Given the description of an element on the screen output the (x, y) to click on. 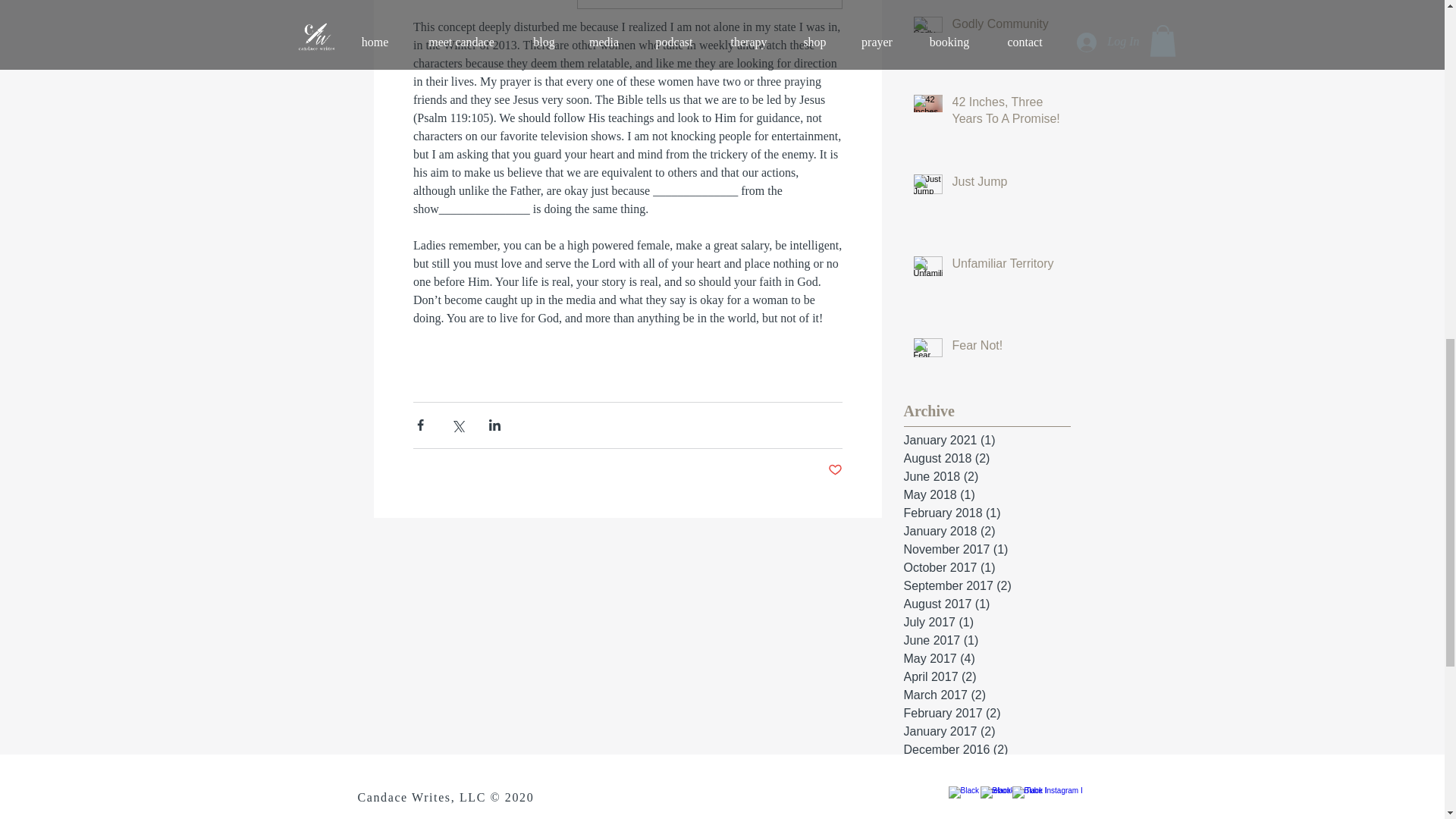
Unfamiliar Territory (1006, 266)
Godly Community (1006, 26)
Fear Not! (1006, 348)
Post not marked as liked (835, 470)
Just Jump (1006, 184)
42 Inches, Three Years To A Promise! (1006, 114)
